Given the description of an element on the screen output the (x, y) to click on. 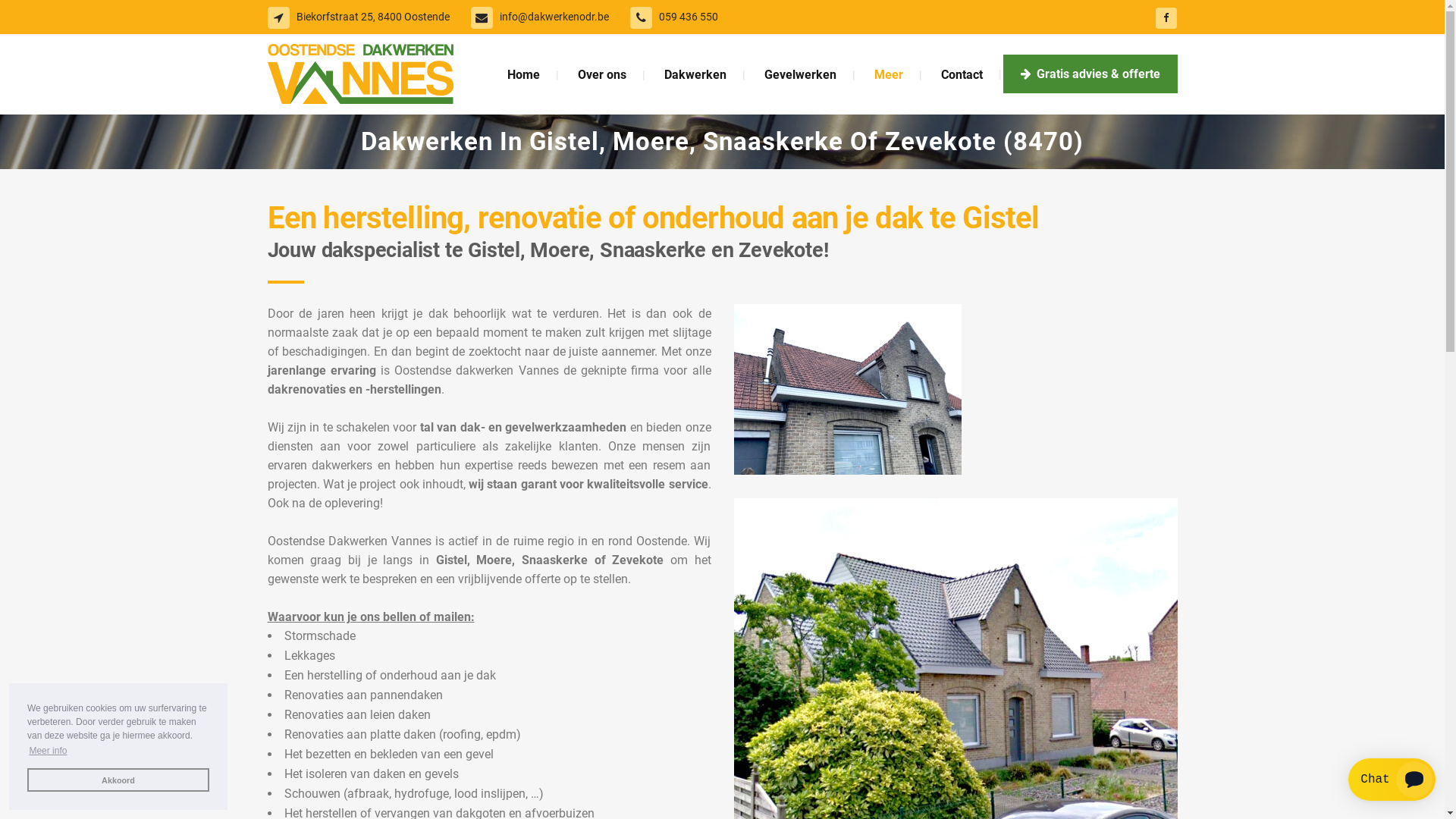
Akkoord Element type: text (118, 779)
Home Element type: text (523, 74)
Meer Element type: text (888, 74)
Gratis advies & offerte Element type: text (1089, 73)
Dakwerken Element type: text (694, 74)
Gevelwerken Element type: text (799, 74)
Over ons Element type: text (601, 74)
Contact Element type: text (961, 74)
Smartsupp widget button Element type: hover (1391, 779)
Meer info Element type: text (48, 750)
